Given the description of an element on the screen output the (x, y) to click on. 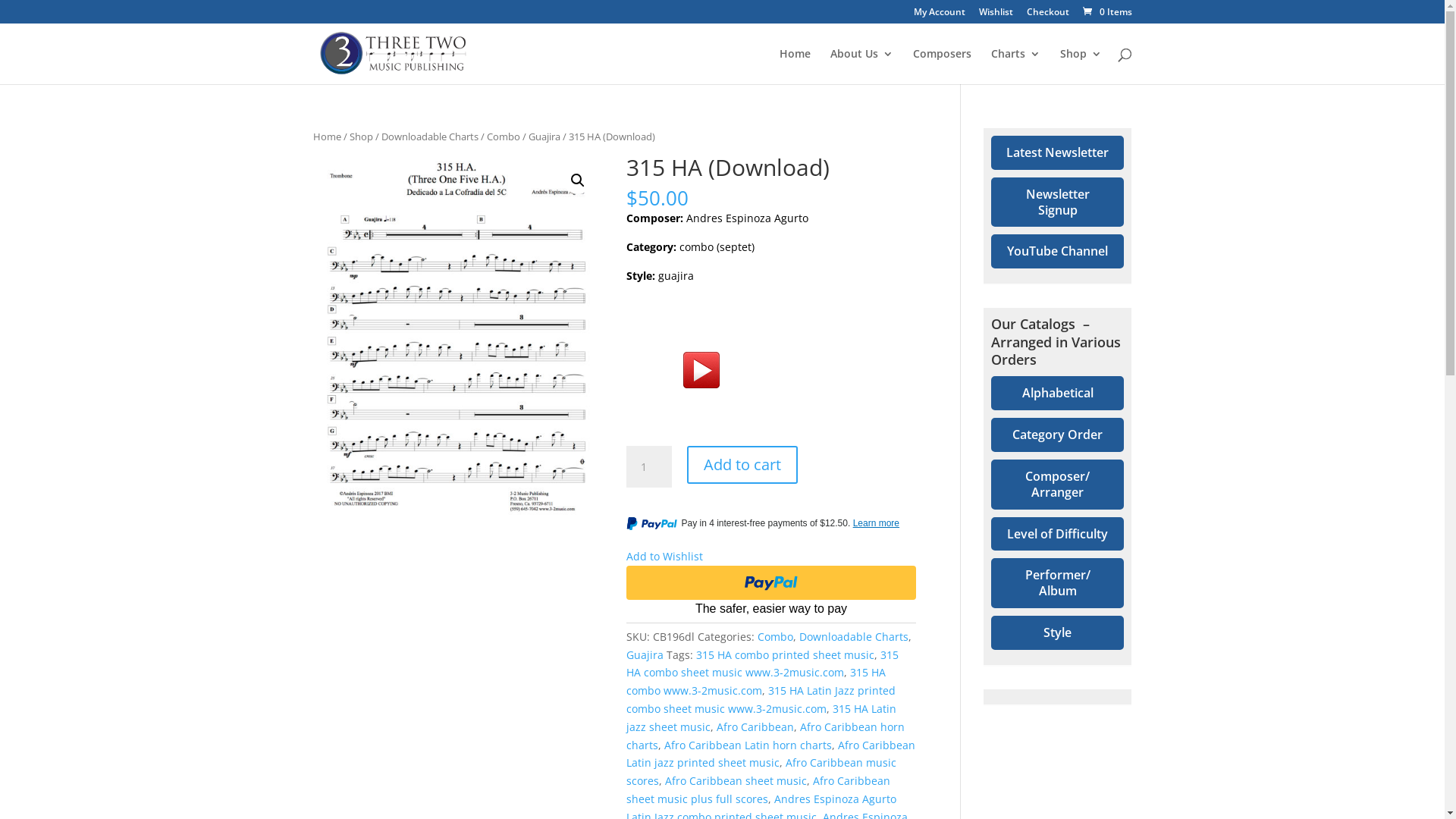
YouTube Channel Element type: text (1057, 251)
Composer/ Arranger Element type: text (1057, 484)
Combo Element type: text (775, 636)
Combo Element type: text (503, 136)
0 Items Element type: text (1105, 11)
Home Element type: text (326, 136)
Checkout Element type: text (1047, 15)
Shop Element type: text (360, 136)
315 HA combo sheet music www.3-2music.com Element type: text (762, 663)
Composers Element type: text (942, 66)
315 HA (Download) Element type: hover (457, 343)
Charts Element type: text (1014, 66)
PayPal Message 1 Element type: hover (771, 525)
Downloadable Charts Element type: text (853, 636)
Style Element type: text (1057, 632)
Add to Wishlist Element type: text (664, 556)
Downloadable Charts Element type: text (428, 136)
315 HA combo printed sheet music Element type: text (785, 654)
Newsletter Signup Element type: text (1057, 202)
Afro Caribbean Element type: text (754, 726)
Level of Difficulty Element type: text (1057, 534)
Guajira Element type: text (644, 654)
Home Element type: text (794, 66)
Add to cart Element type: text (742, 464)
315 HA Latin Jazz printed combo sheet music www.3-2music.com Element type: text (760, 699)
Wishlist Element type: text (995, 15)
Performer/ Album Element type: text (1057, 583)
Category Order Element type: text (1057, 434)
Afro Caribbean horn charts Element type: text (765, 735)
My Account Element type: text (938, 15)
Shop Element type: text (1080, 66)
Afro Caribbean sheet music plus full scores Element type: text (758, 789)
315 HA Latin jazz sheet music Element type: text (761, 717)
Afro Caribbean music scores Element type: text (761, 771)
Guajira Element type: text (543, 136)
Afro Caribbean Latin jazz printed sheet music Element type: text (770, 753)
Alphabetical Element type: text (1057, 393)
Afro Caribbean Latin horn charts Element type: text (747, 744)
Afro Caribbean sheet music Element type: text (735, 780)
PayPal Element type: hover (771, 591)
About Us Element type: text (860, 66)
Latest Newsletter Element type: text (1057, 152)
315 HA combo www.3-2music.com Element type: text (755, 681)
